Given the description of an element on the screen output the (x, y) to click on. 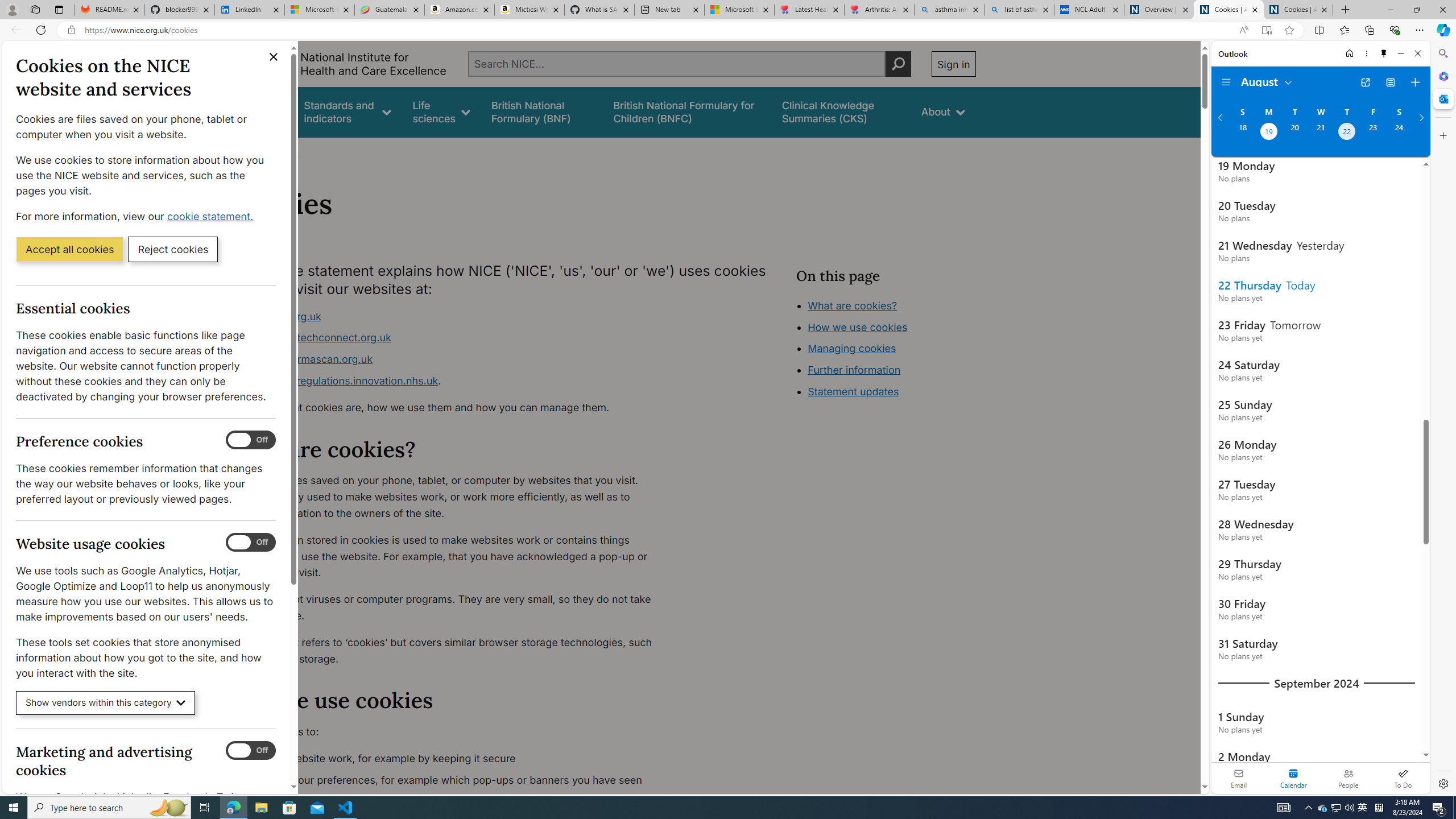
Folder navigation (1225, 82)
